Given the description of an element on the screen output the (x, y) to click on. 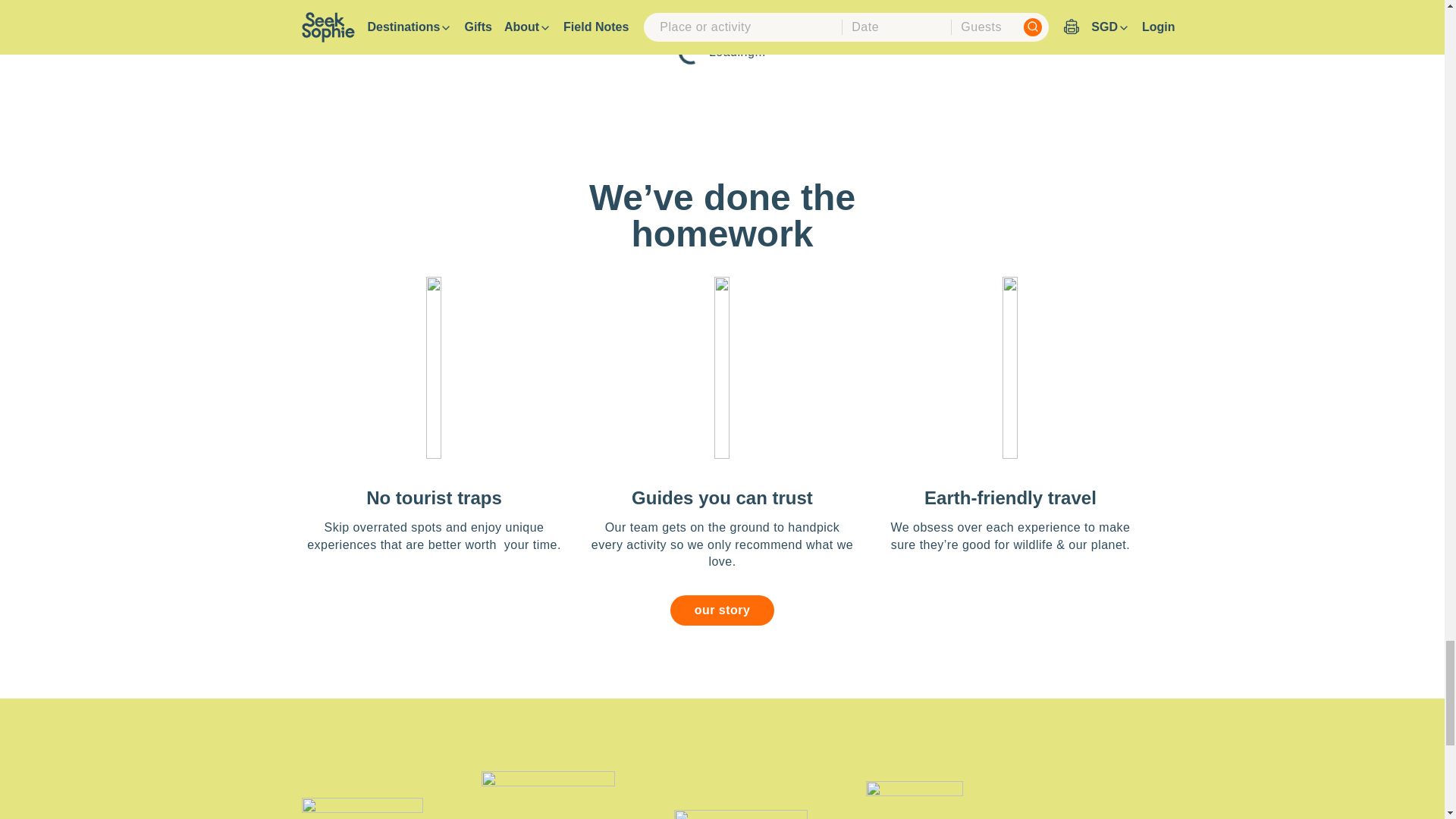
our story (721, 610)
